Given the description of an element on the screen output the (x, y) to click on. 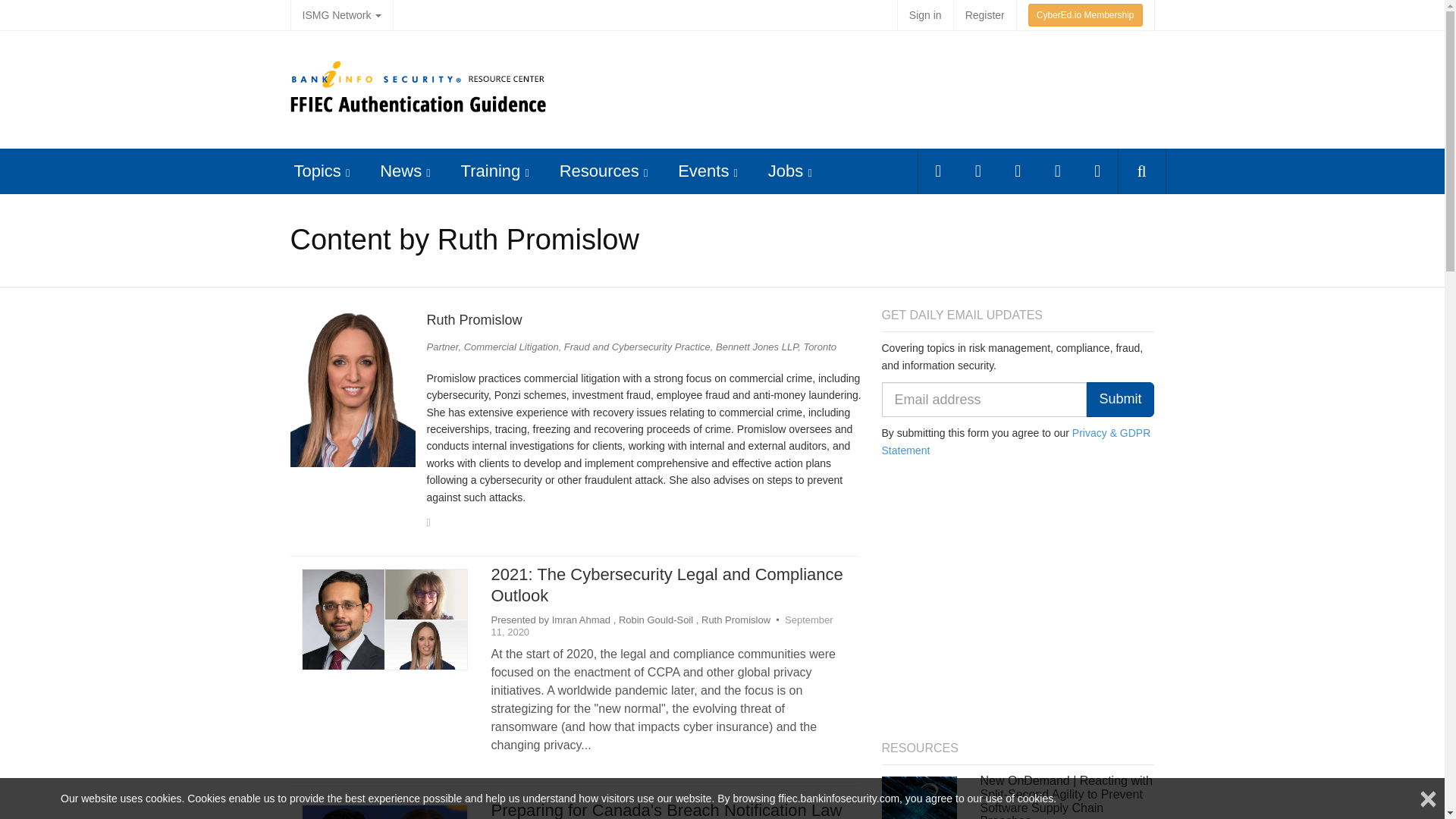
CyberEd.io Membership (1084, 15)
3rd party ad content (873, 88)
News (401, 170)
Topics (317, 170)
Sign in (925, 15)
Register (984, 15)
ISMG Network (341, 15)
